Given the description of an element on the screen output the (x, y) to click on. 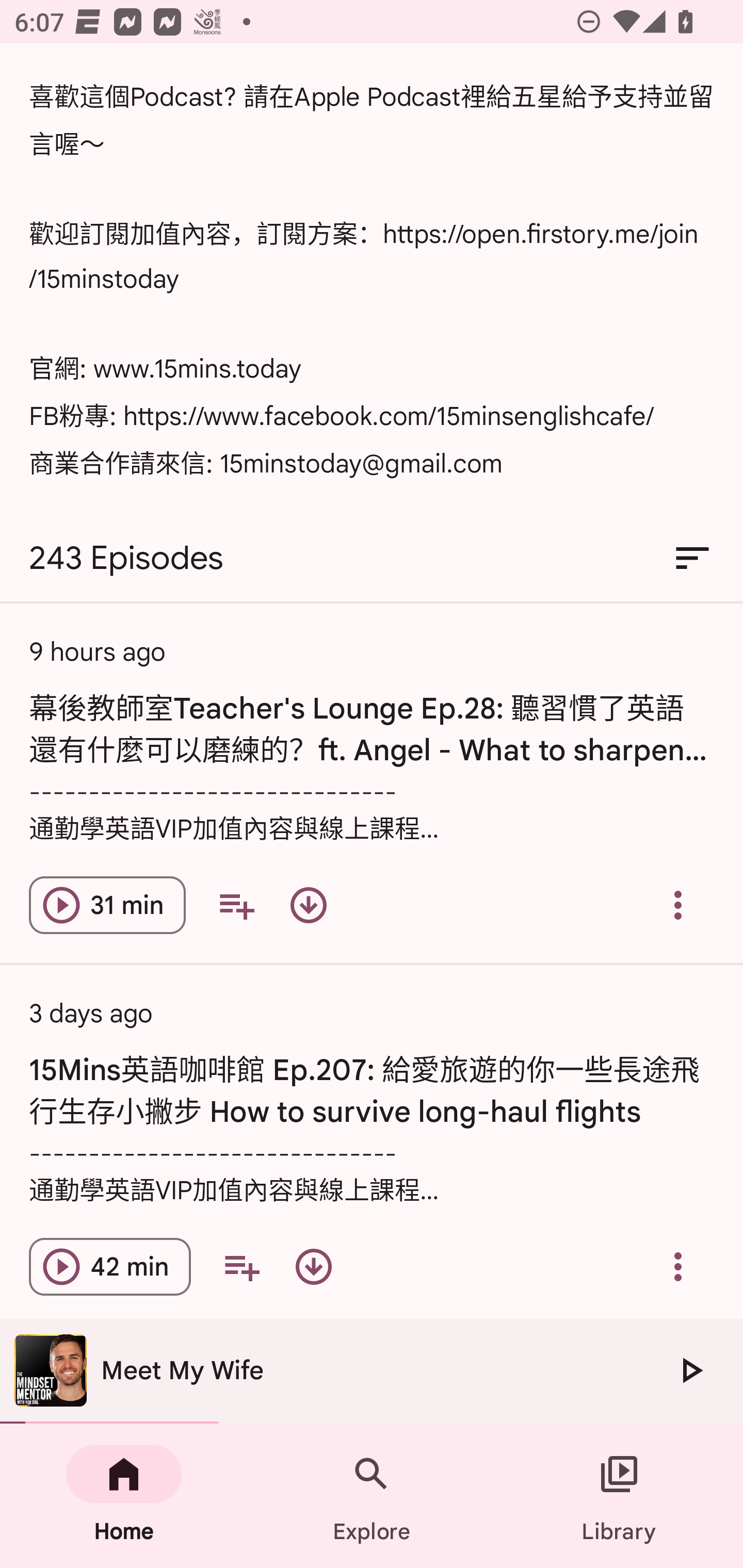
Sort (692, 558)
Add to your queue (235, 905)
Download episode (308, 905)
Overflow menu (677, 905)
Add to your queue (241, 1266)
Download episode (313, 1266)
Overflow menu (677, 1266)
Play (690, 1370)
Explore (371, 1495)
Library (619, 1495)
